Given the description of an element on the screen output the (x, y) to click on. 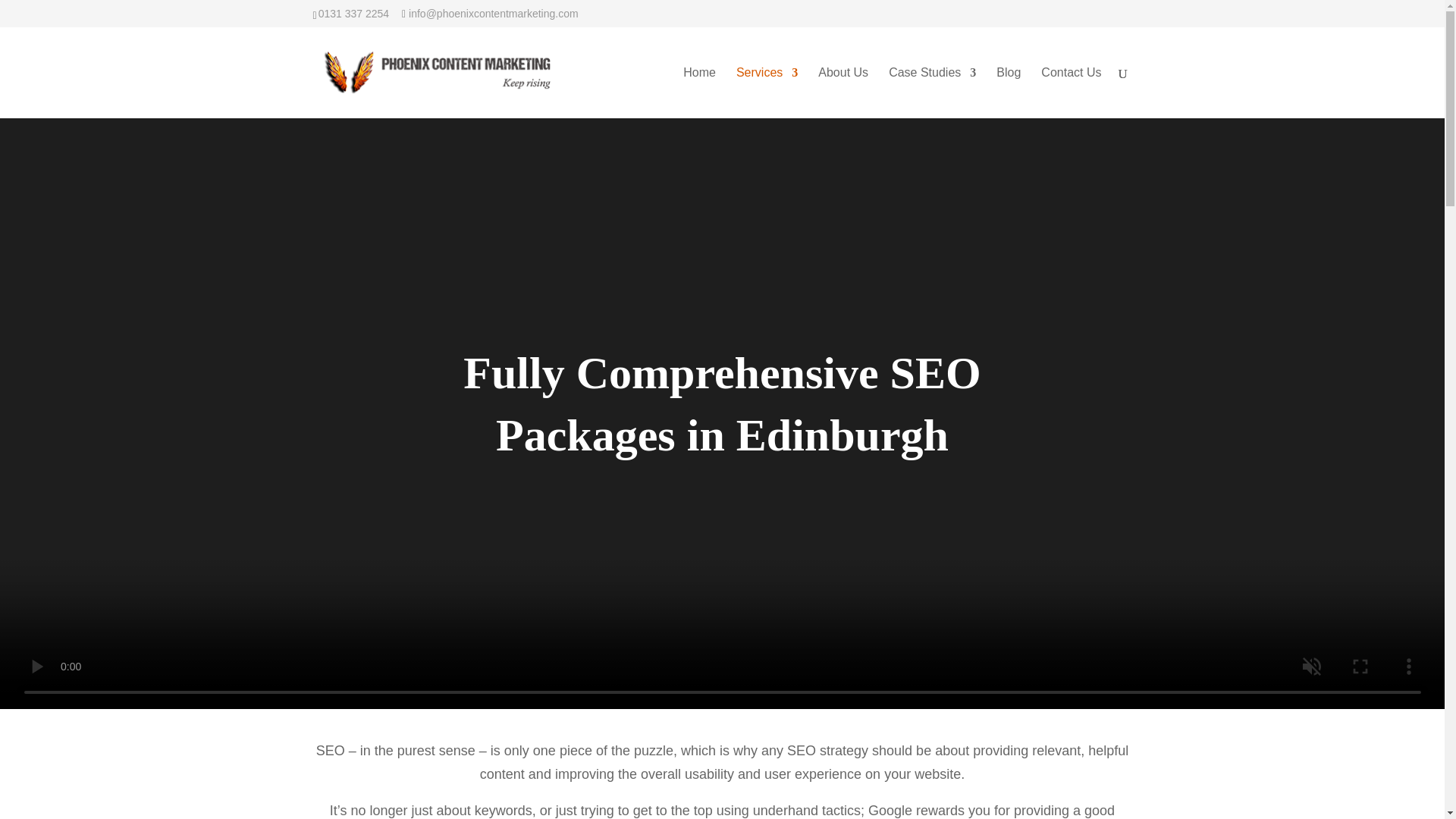
Services (766, 92)
Case Studies (931, 92)
Contact Us (1070, 92)
About Us (842, 92)
